Given the description of an element on the screen output the (x, y) to click on. 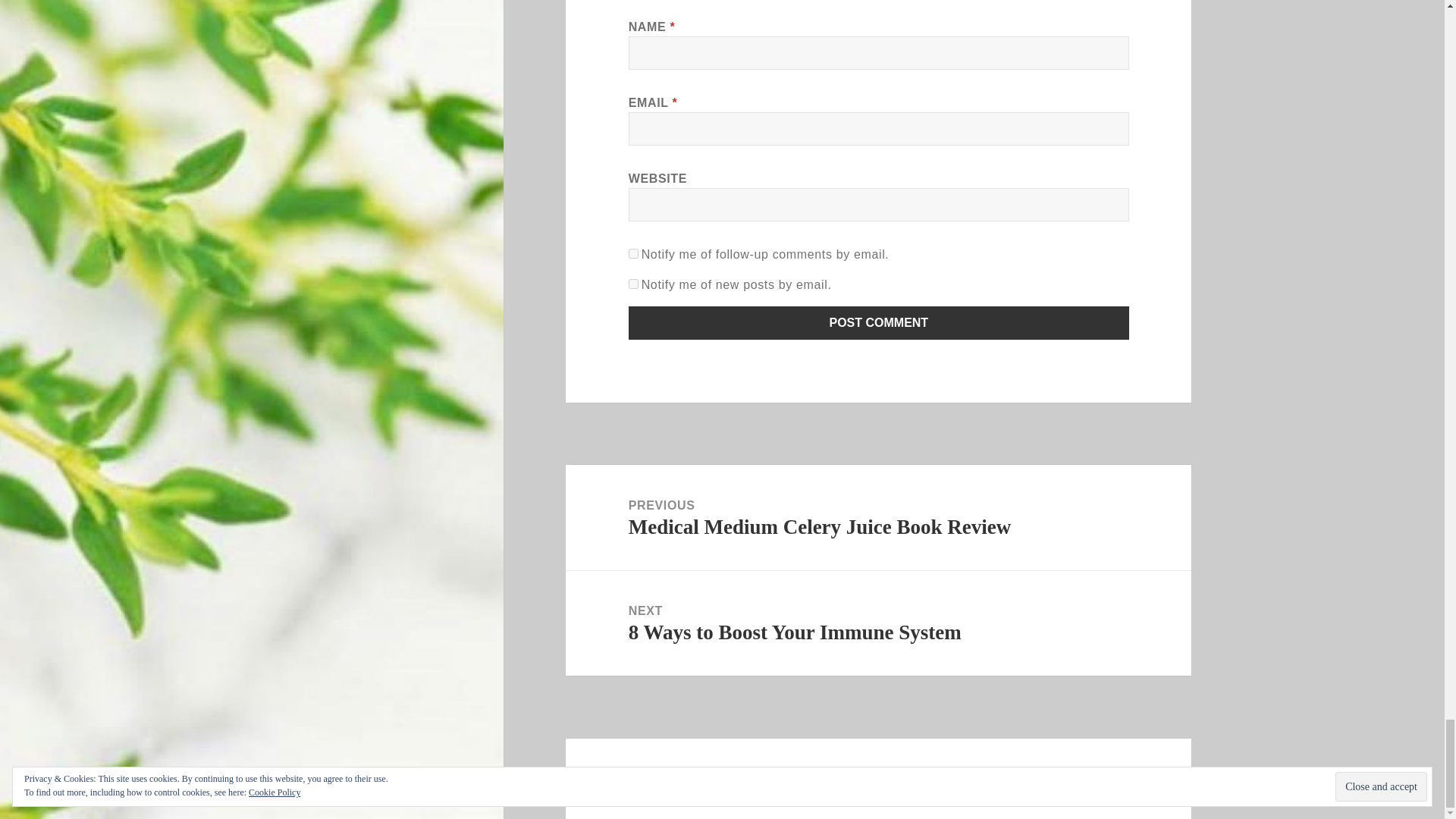
subscribe (633, 253)
Post Comment (878, 322)
subscribe (633, 284)
